Given the description of an element on the screen output the (x, y) to click on. 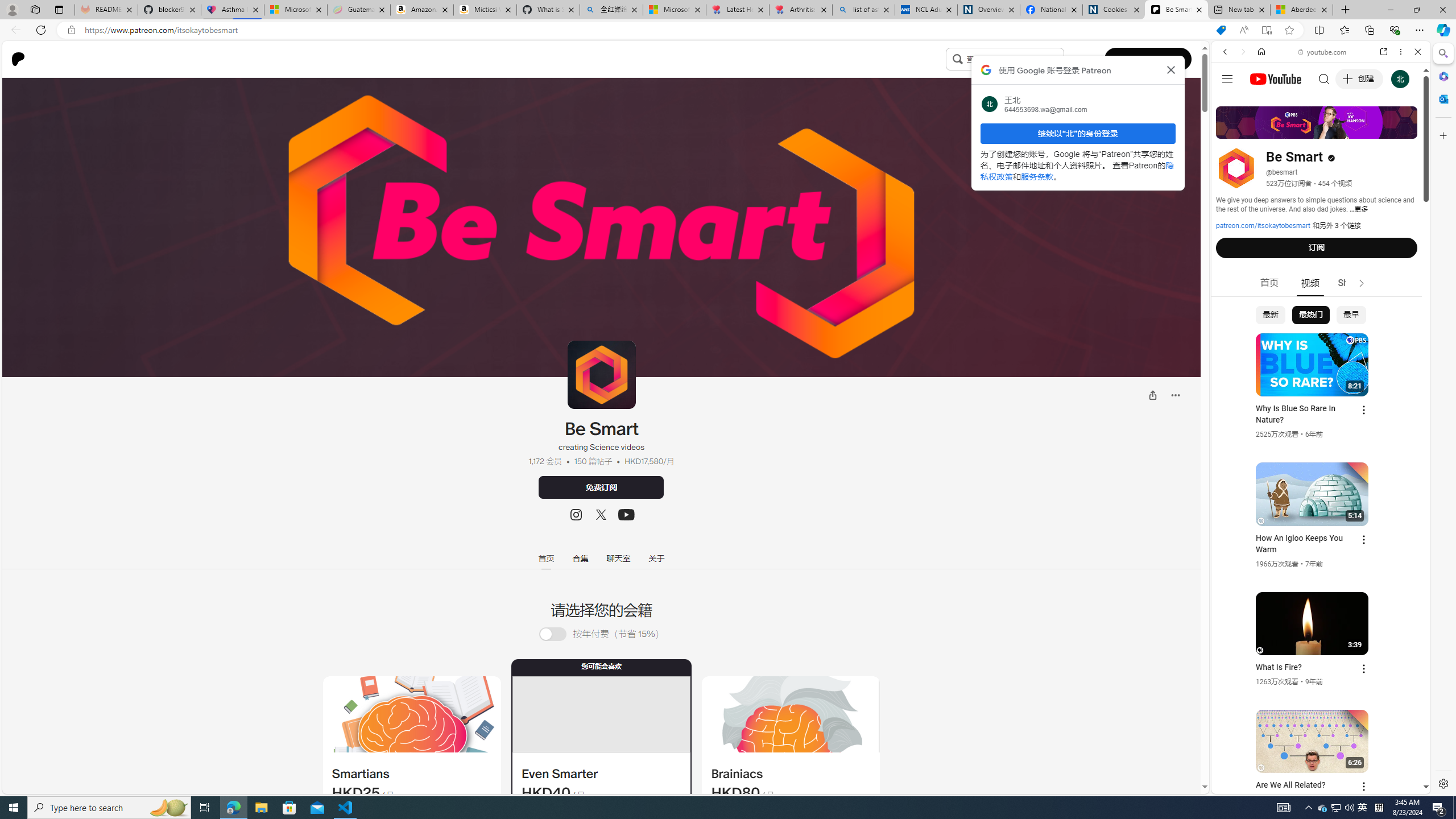
Arthritis: Ask Health Professionals (800, 9)
Shorts (1351, 283)
Class: Bz112c Bz112c-r9oPif (1170, 69)
Google (1320, 281)
Search Filter, VIDEOS (1300, 129)
Microsoft-Report a Concern to Bing (295, 9)
Search Filter, IMAGES (1262, 129)
Class: style-scope tp-yt-iron-icon (1361, 283)
